Given the description of an element on the screen output the (x, y) to click on. 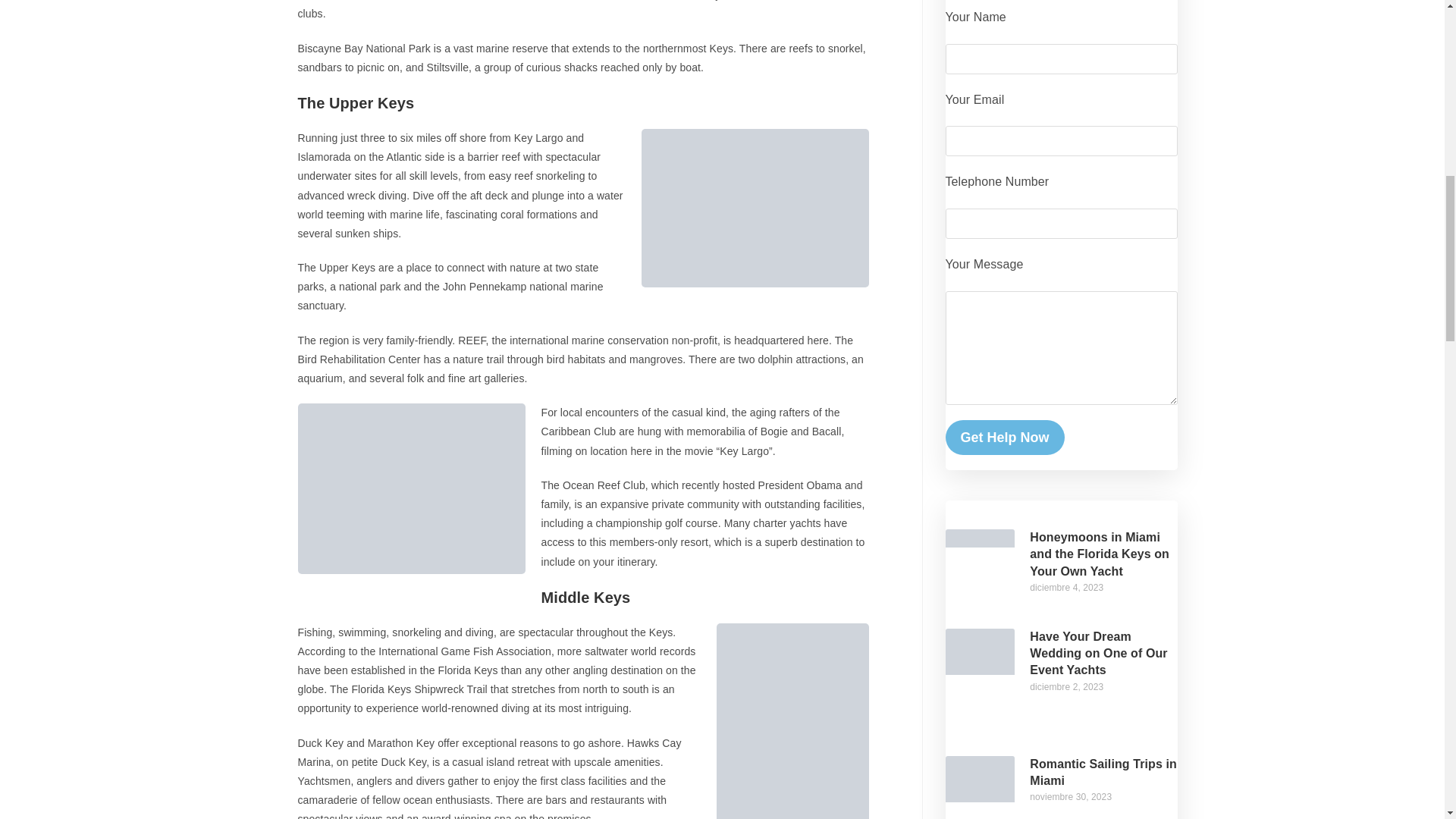
Get Help Now (1004, 437)
